Given the description of an element on the screen output the (x, y) to click on. 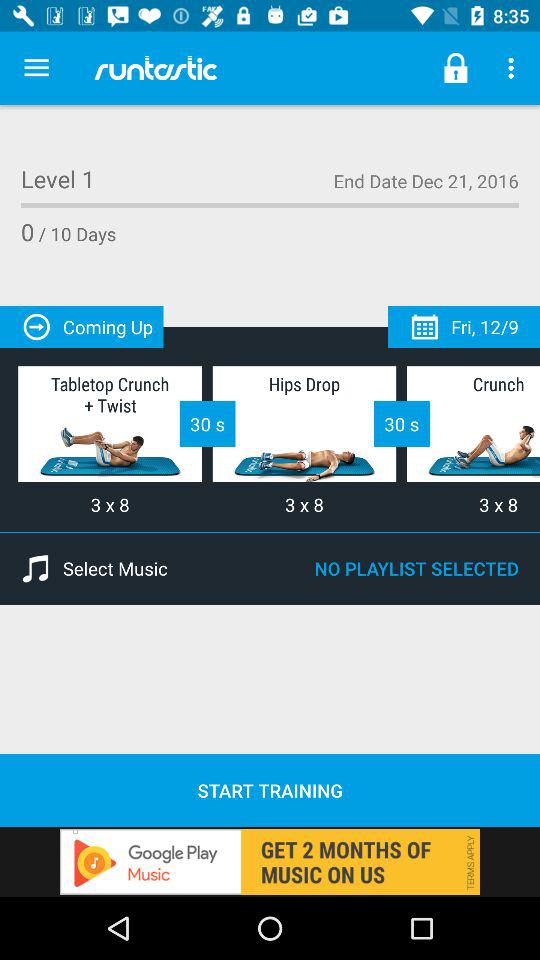
open advertisement (270, 861)
